Given the description of an element on the screen output the (x, y) to click on. 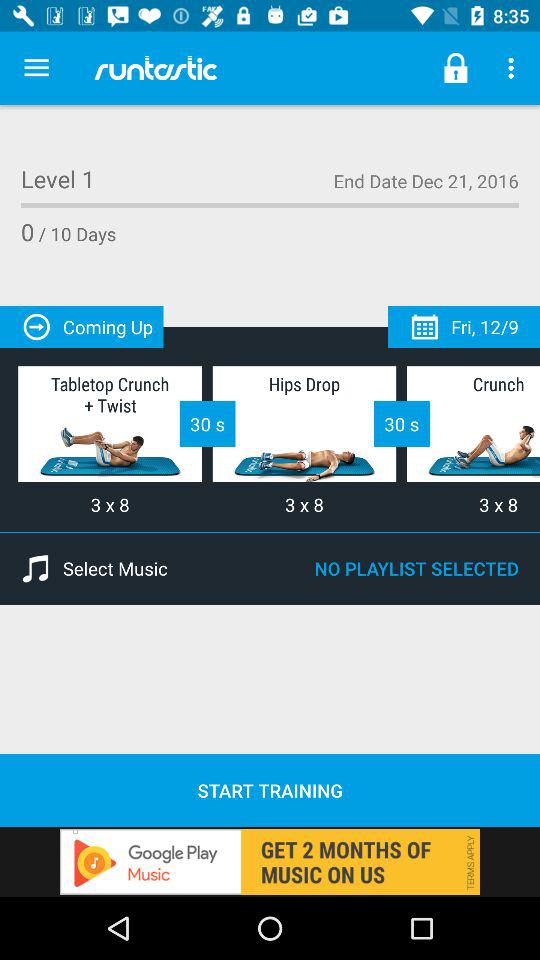
open advertisement (270, 861)
